Given the description of an element on the screen output the (x, y) to click on. 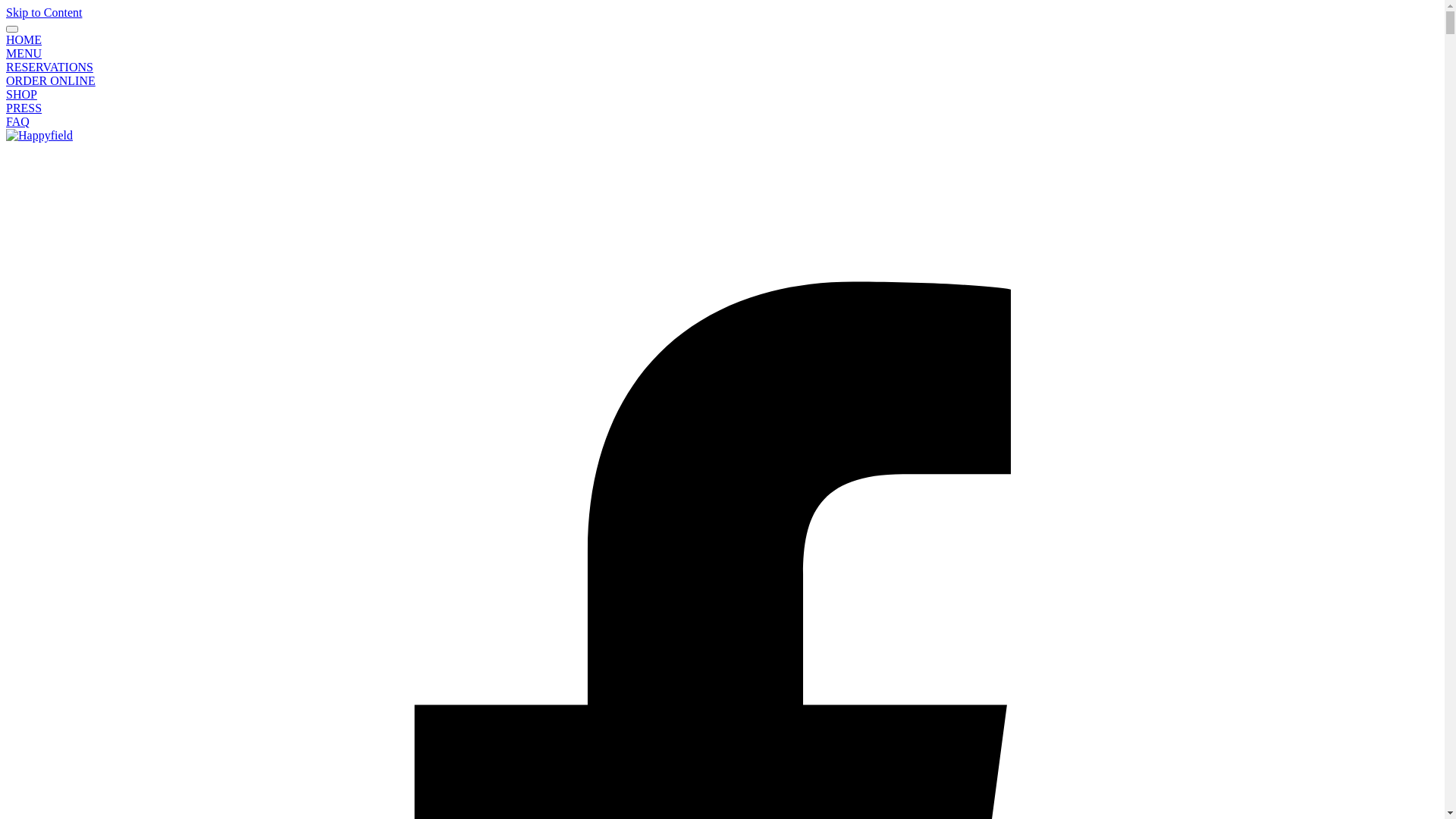
ORDER ONLINE Element type: text (50, 80)
MENU Element type: text (23, 53)
HOME Element type: text (23, 39)
RESERVATIONS Element type: text (49, 66)
PRESS Element type: text (23, 107)
Skip to Content Element type: text (43, 12)
SHOP Element type: text (21, 93)
FAQ Element type: text (17, 121)
